Given the description of an element on the screen output the (x, y) to click on. 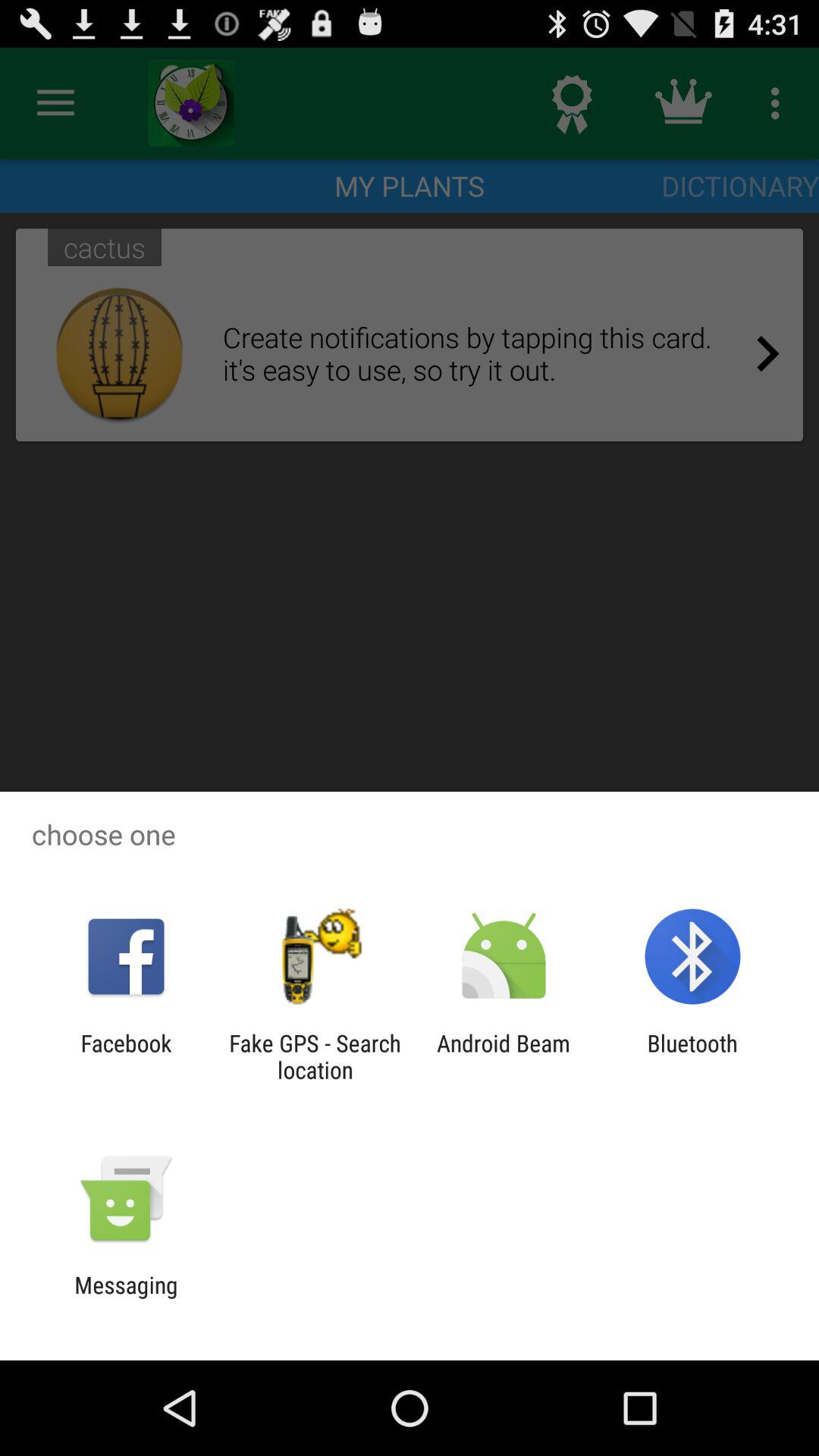
swipe to fake gps search (314, 1056)
